Given the description of an element on the screen output the (x, y) to click on. 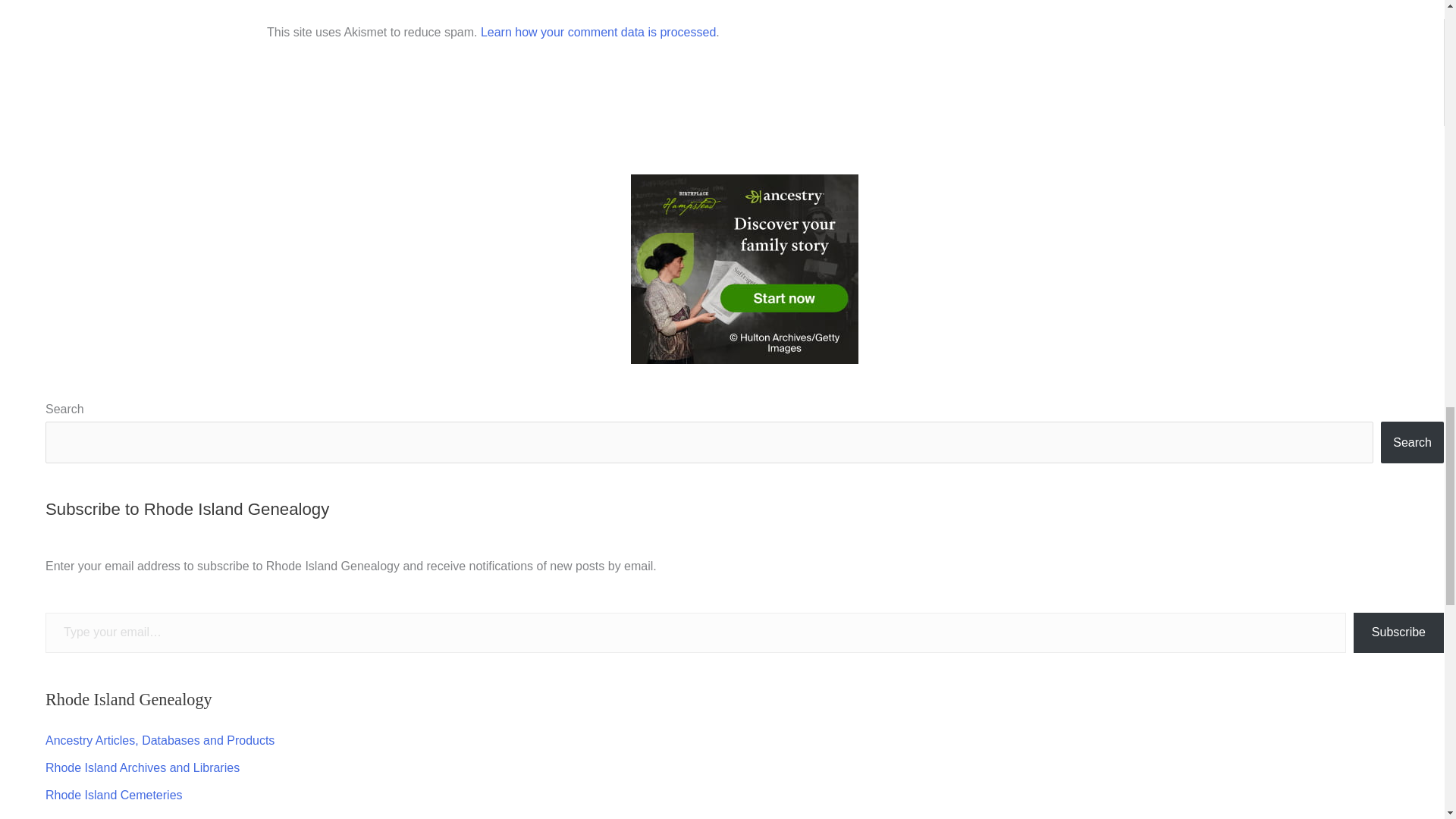
Ancestry Articles, Databases and Products (160, 739)
Rhode Island Census (103, 817)
Please fill in this field. (695, 632)
Subscribe (1399, 632)
Search (1412, 441)
Learn how your comment data is processed (598, 31)
Rhode Island Cemeteries (114, 794)
Rhode Island Archives and Libraries (142, 767)
